Given the description of an element on the screen output the (x, y) to click on. 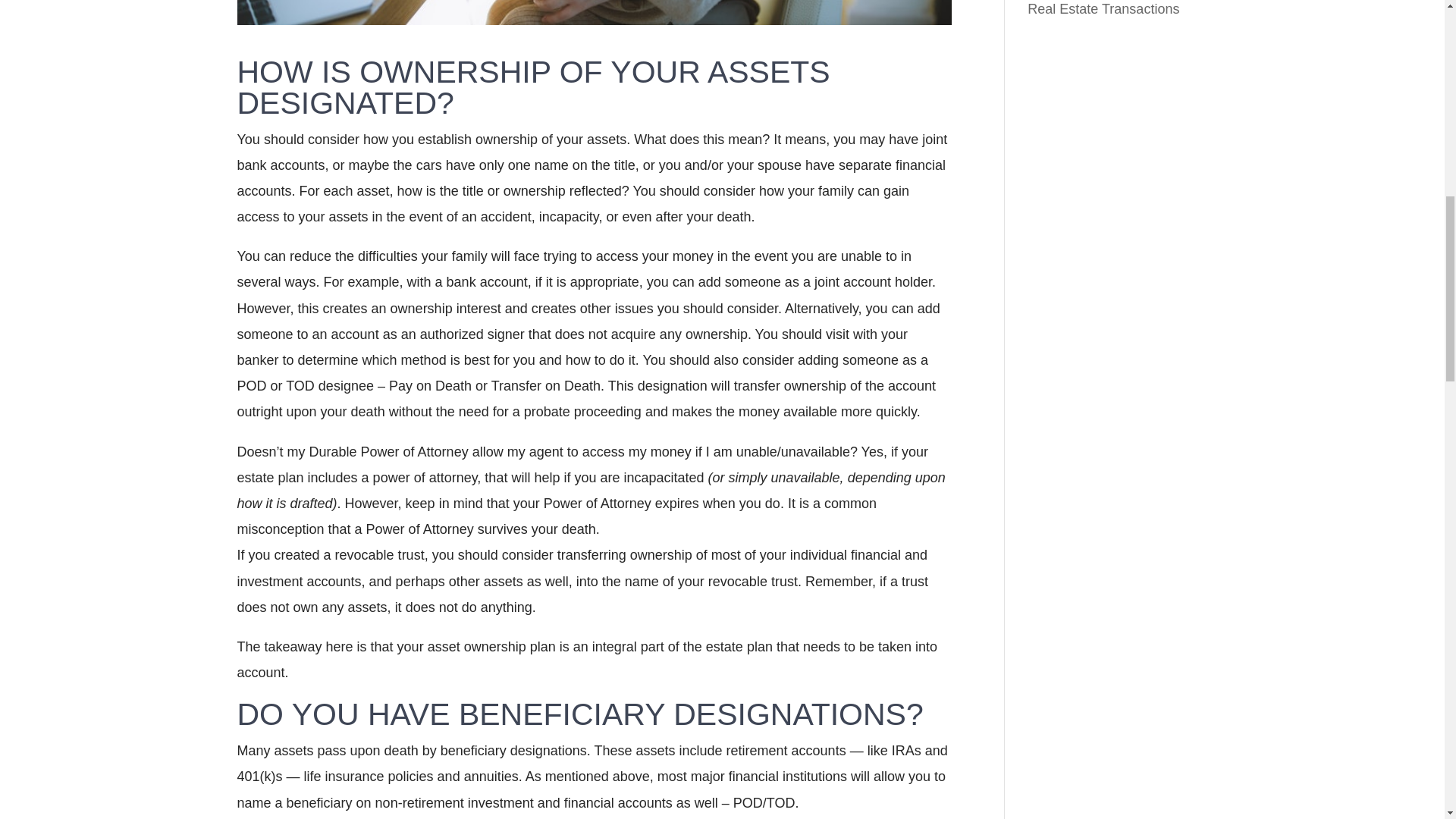
Real Estate Transactions (1103, 8)
